Given the description of an element on the screen output the (x, y) to click on. 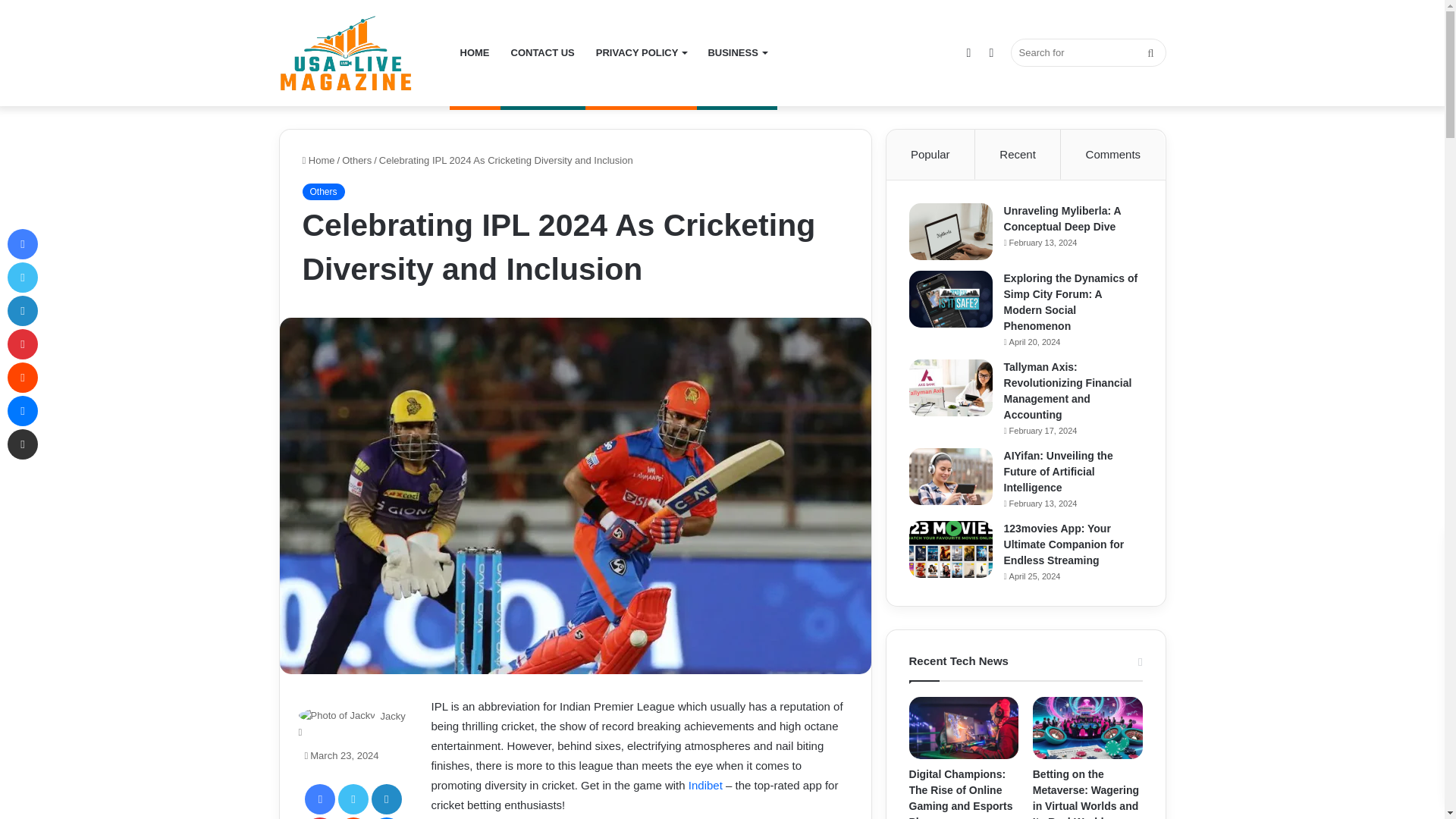
PRIVACY POLICY (641, 53)
Indibet (705, 784)
Jacky (392, 715)
LinkedIn (386, 798)
usalivemagazine (346, 52)
LinkedIn (386, 798)
Pinterest (319, 818)
Messenger (386, 818)
Facebook (319, 798)
Pinterest (319, 818)
